Given the description of an element on the screen output the (x, y) to click on. 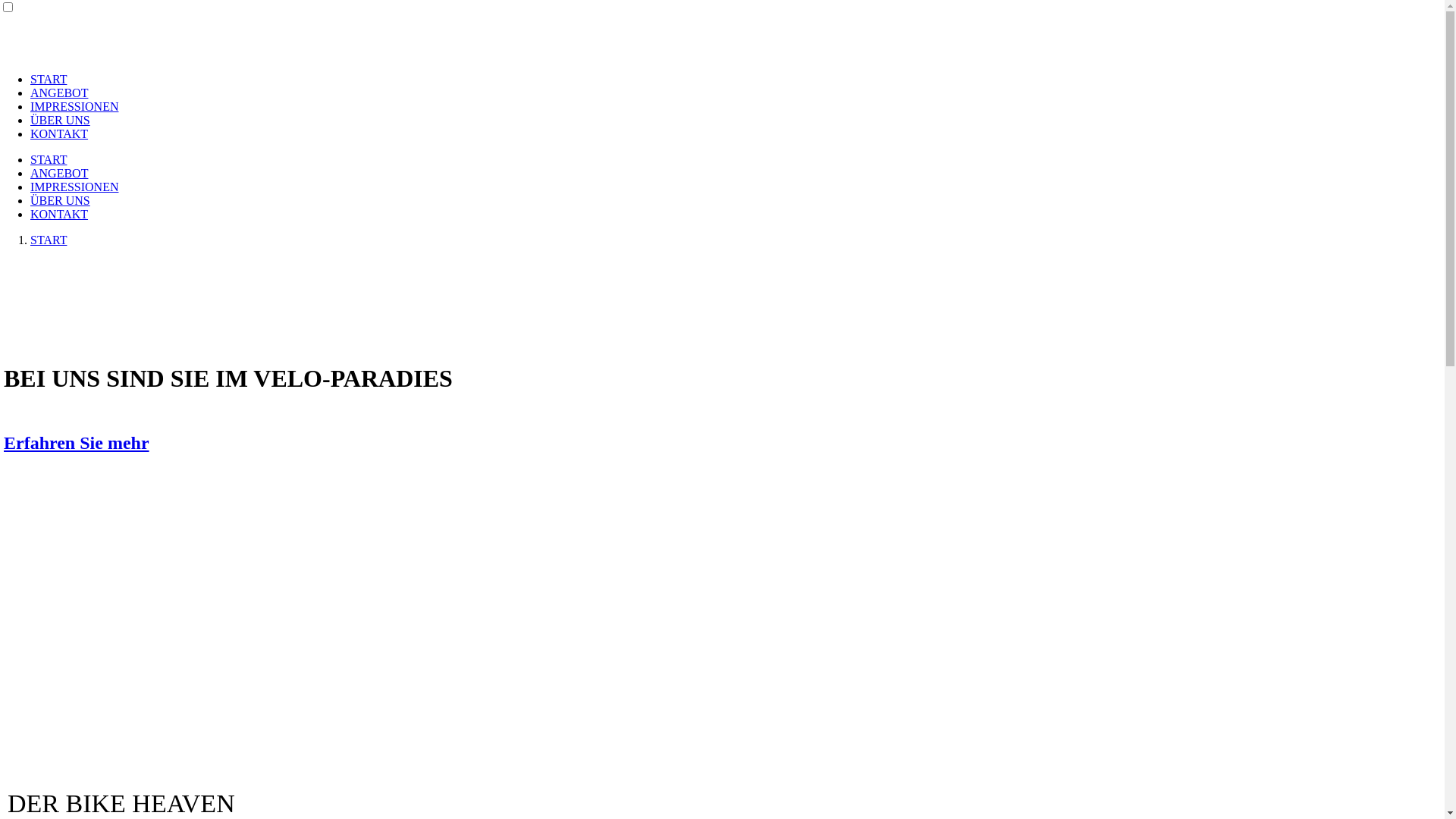
ANGEBOT Element type: text (58, 92)
IMPRESSIONEN Element type: text (74, 106)
IMPRESSIONEN Element type: text (74, 186)
KONTAKT Element type: text (58, 213)
START Element type: text (48, 239)
START Element type: text (48, 78)
KONTAKT Element type: text (58, 133)
START Element type: text (48, 159)
Erfahren Sie mehr Element type: text (76, 442)
ANGEBOT Element type: text (58, 172)
